Given the description of an element on the screen output the (x, y) to click on. 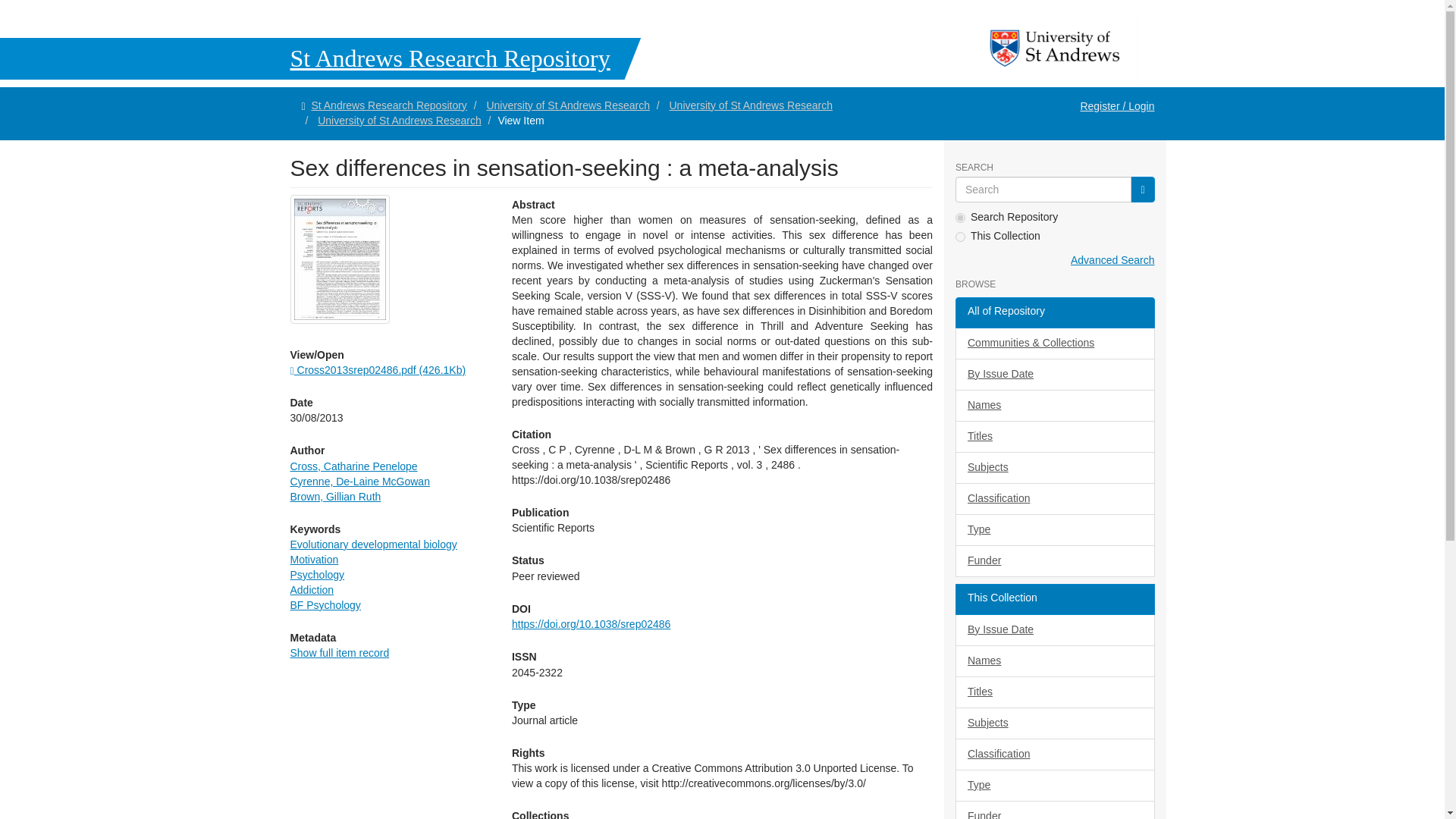
Names (1054, 405)
Cross, Catharine Penelope (352, 466)
Show full item record (338, 653)
Go (1142, 189)
Titles (1054, 436)
St Andrews Research Repository (320, 58)
University of St Andrews Research (750, 105)
Brown, Gillian Ruth (334, 496)
University of St Andrews Research (399, 120)
Psychology (316, 574)
